Given the description of an element on the screen output the (x, y) to click on. 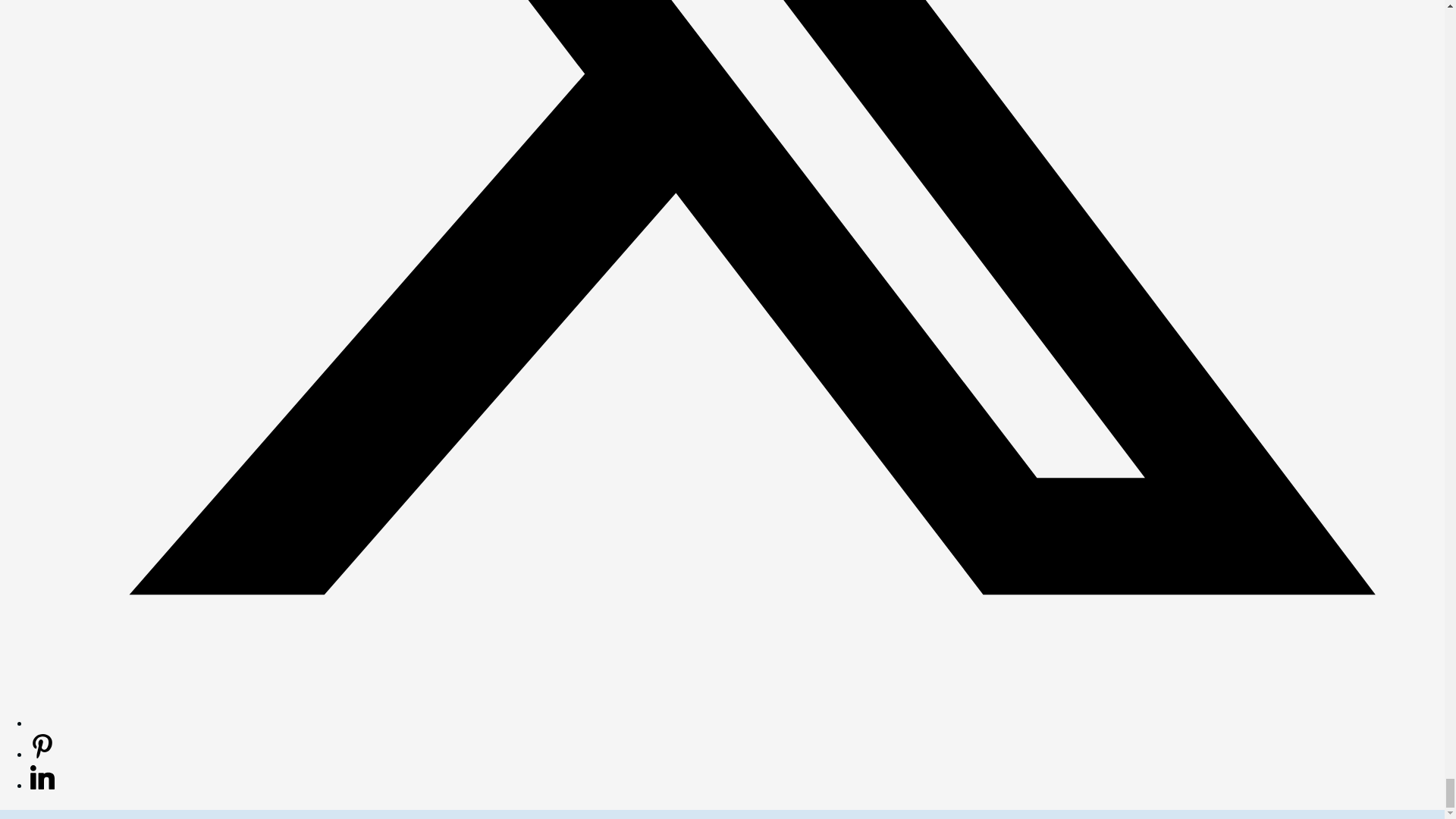
Share on Pinterest (42, 753)
Share on LinkedIn (42, 784)
